Given the description of an element on the screen output the (x, y) to click on. 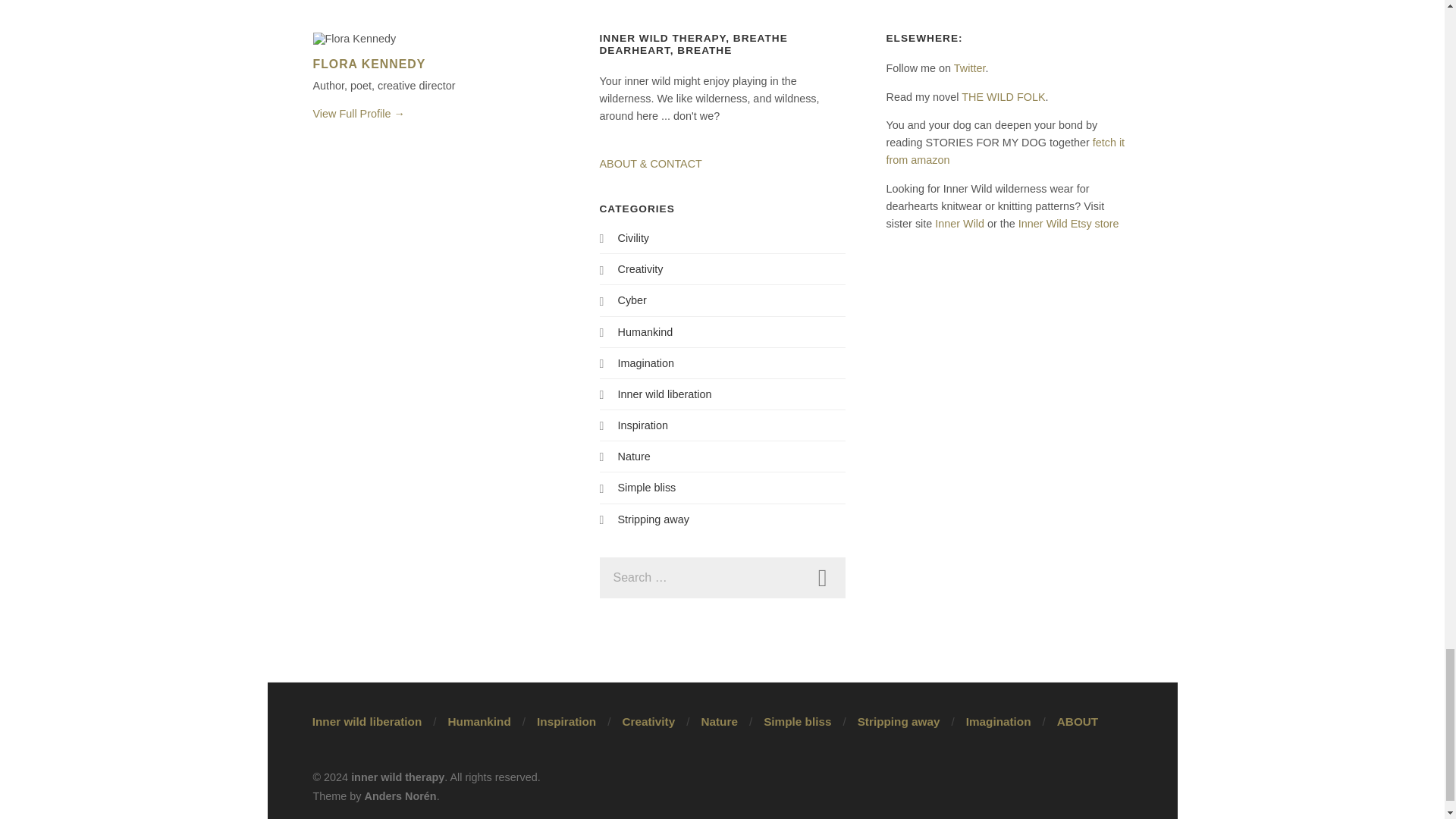
Imagination (644, 363)
Creativity (639, 268)
Humankind (644, 331)
Nature (633, 456)
Search (821, 577)
Search (821, 577)
Civility (633, 237)
Cyber (631, 300)
Inspiration (641, 425)
Search (821, 577)
